Given the description of an element on the screen output the (x, y) to click on. 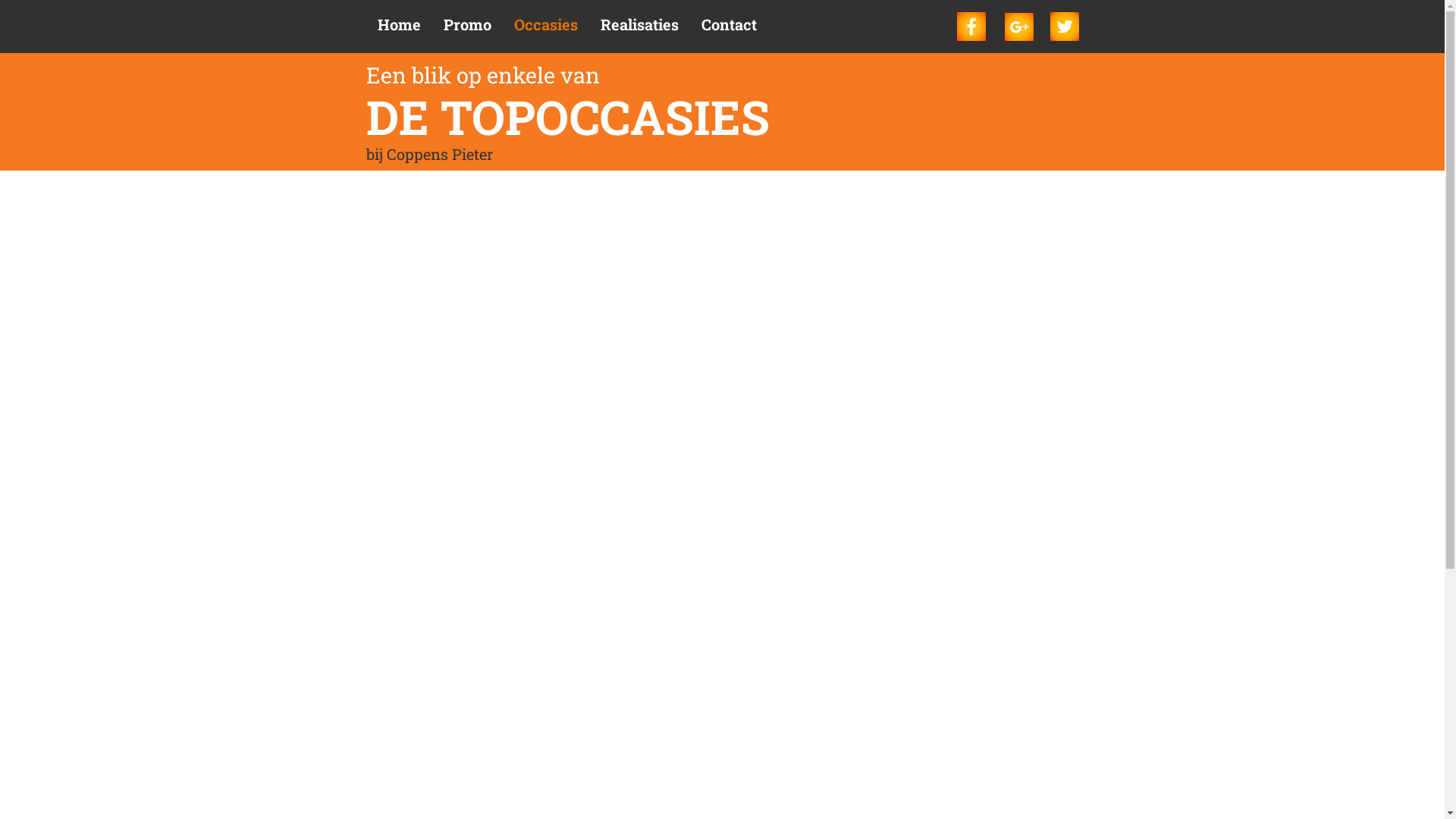
Contact Element type: text (729, 28)
Home Element type: text (398, 28)
Promo Element type: text (467, 28)
Realisaties Element type: text (638, 28)
Occasies Element type: text (545, 28)
